Given the description of an element on the screen output the (x, y) to click on. 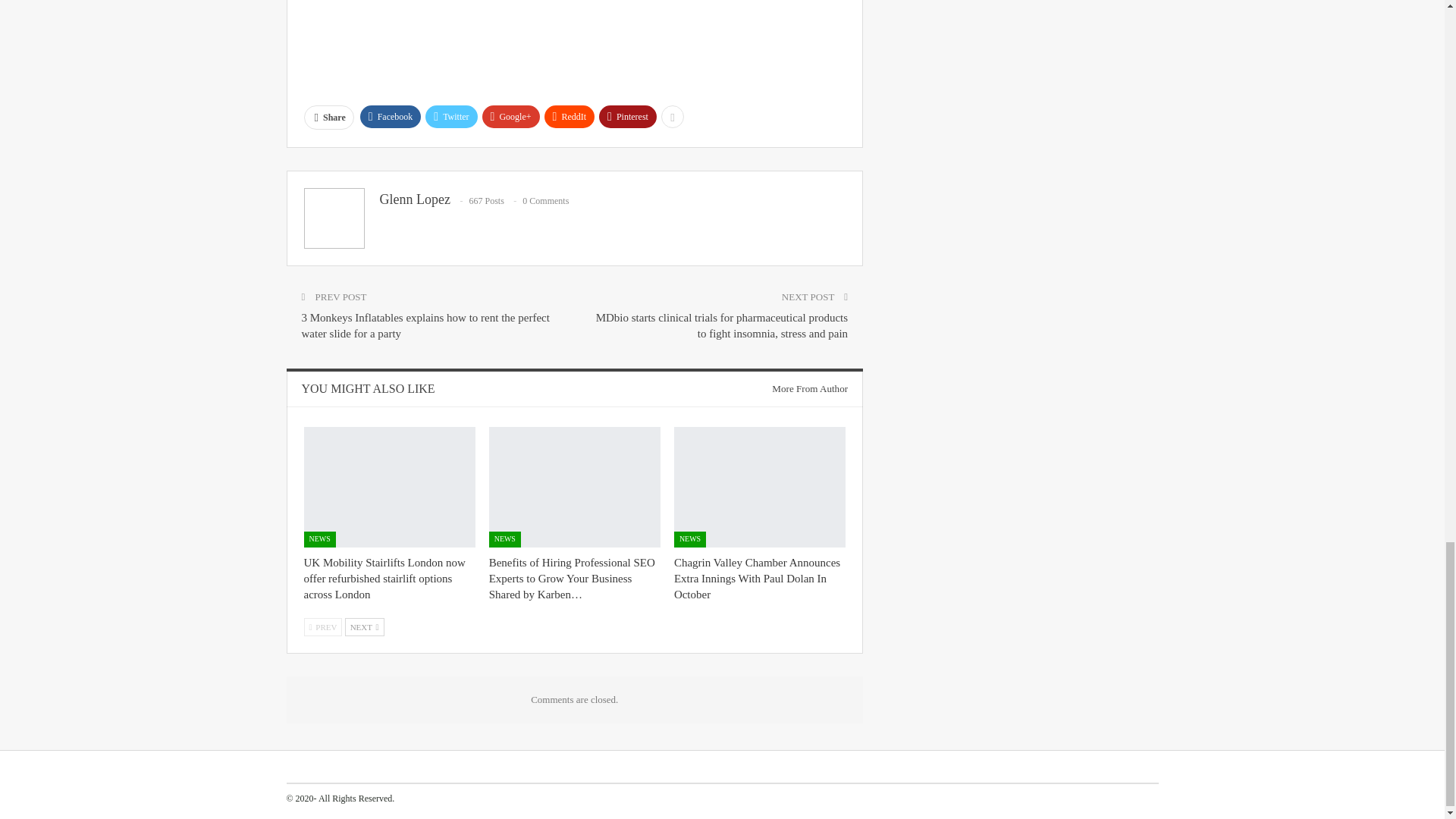
Next (364, 627)
Facebook (390, 116)
Previous (322, 627)
Twitter (451, 116)
